Given the description of an element on the screen output the (x, y) to click on. 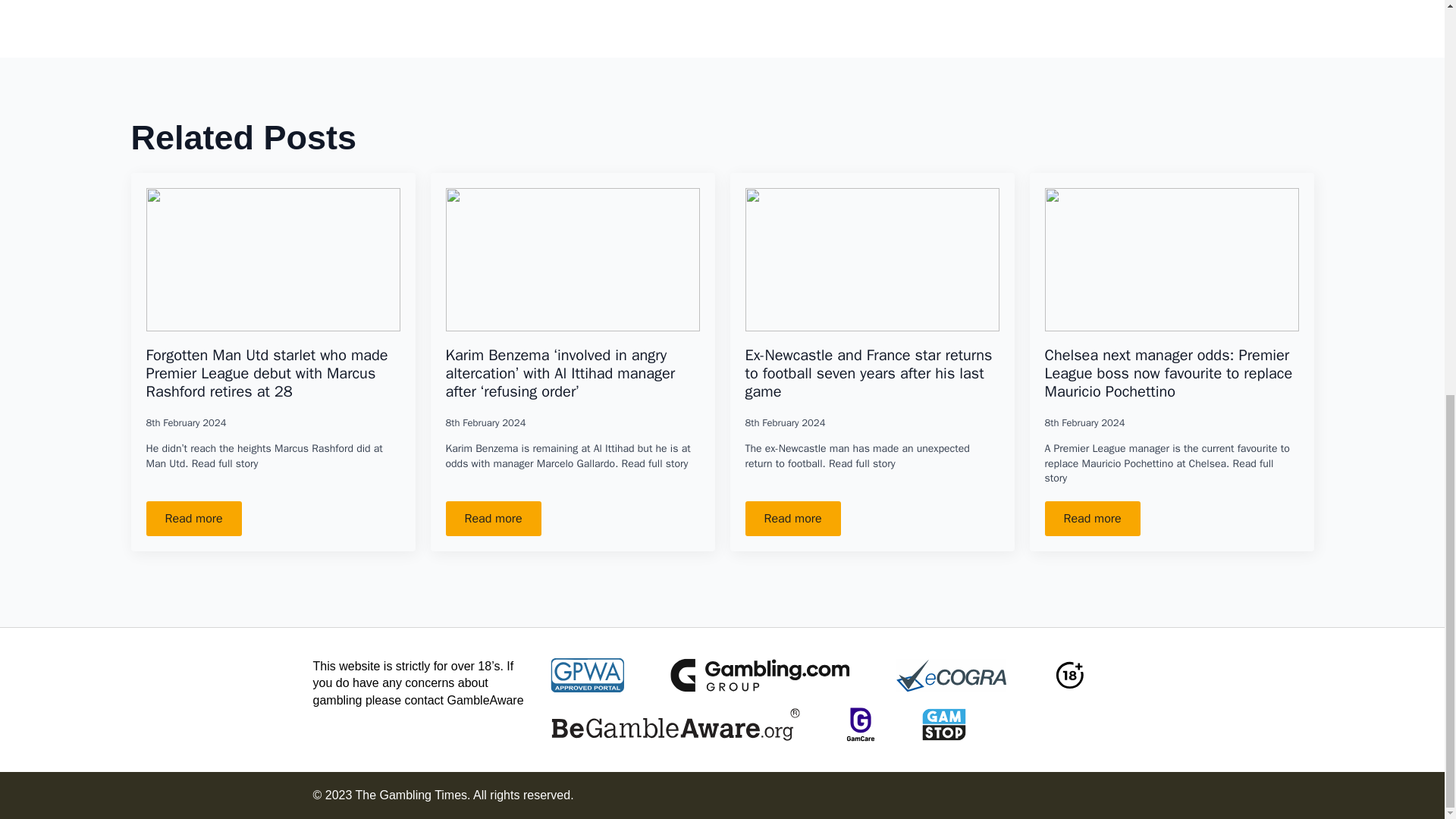
Read more (493, 518)
Read more (1092, 518)
GambleAware (485, 699)
Read more (193, 518)
Read more (792, 518)
